Given the description of an element on the screen output the (x, y) to click on. 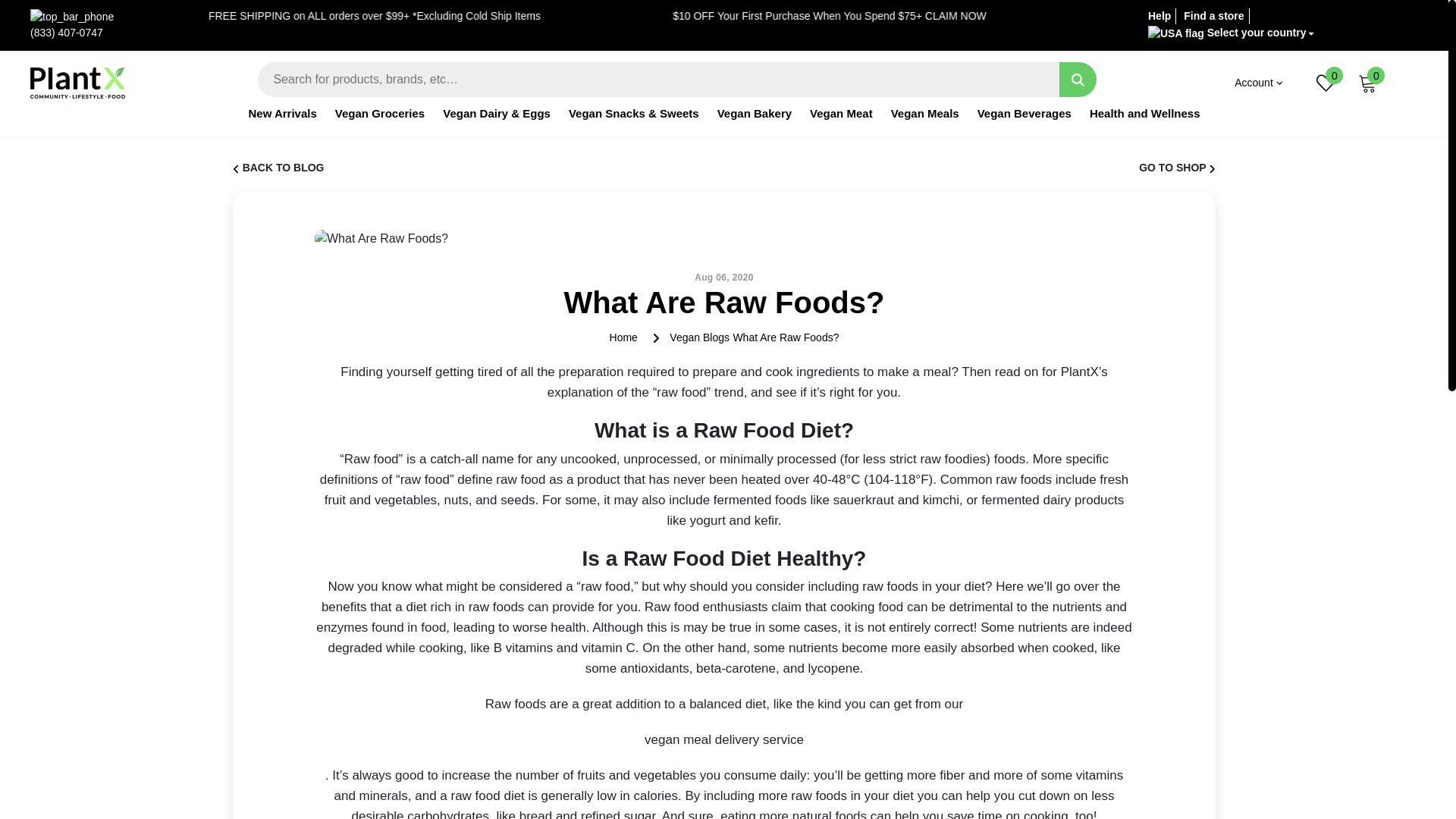
Find a store (1213, 15)
Help (1159, 15)
Account (1259, 82)
0 (1325, 82)
Cart Icon (1367, 82)
Select your country (1230, 33)
0 (1367, 82)
Vegan Groceries (379, 121)
My Wish Lists (1325, 82)
search (1077, 79)
New Arrivals (281, 121)
